Given the description of an element on the screen output the (x, y) to click on. 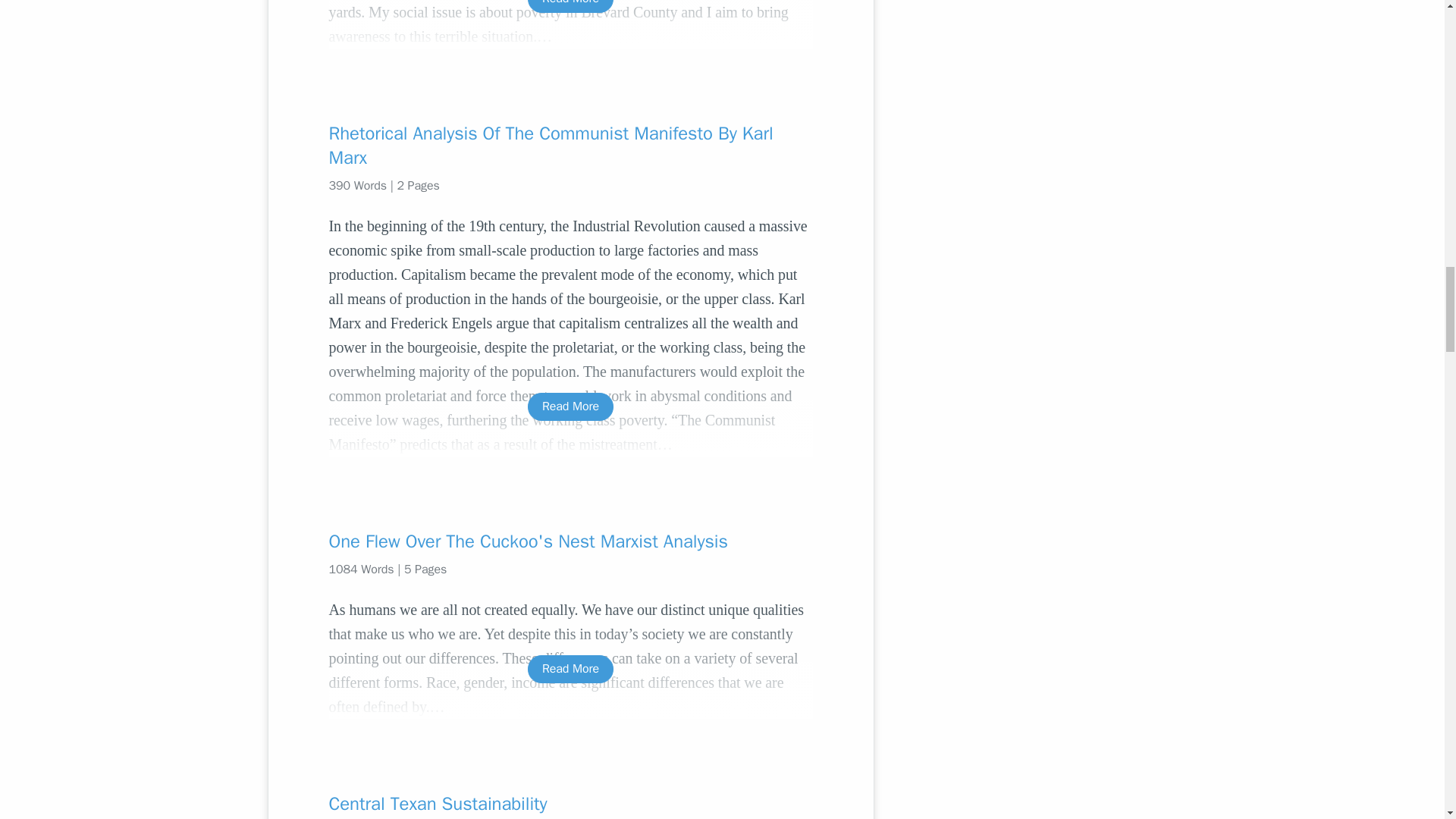
Central Texan Sustainability (570, 803)
Read More (569, 669)
Read More (569, 6)
One Flew Over The Cuckoo's Nest Marxist Analysis (570, 541)
Read More (569, 406)
Rhetorical Analysis Of The Communist Manifesto By Karl Marx (570, 145)
